Given the description of an element on the screen output the (x, y) to click on. 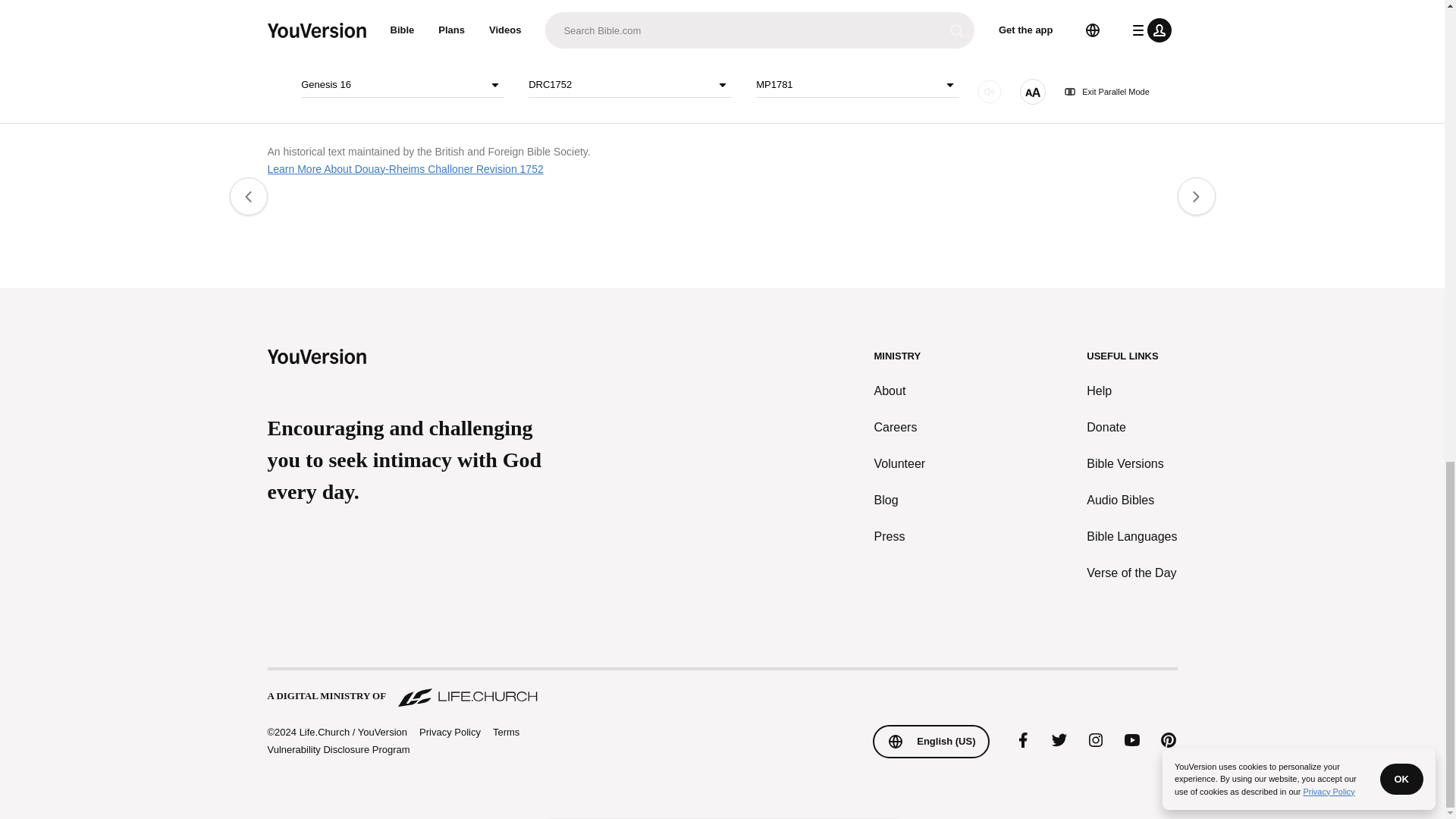
Sign up or sign in (774, 2)
Vulnerability Disclosure Program (337, 749)
Bible Languages (1131, 536)
Volunteer (900, 464)
About (900, 391)
A DIGITAL MINISTRY OF (721, 688)
Press (900, 536)
Verse of the Day (1131, 573)
Learn More About Douay-Rheims Challoner Revision 1752 (404, 168)
Bible Versions (1131, 464)
Terms (506, 731)
Donate (1131, 427)
Careers (900, 427)
Help (1131, 391)
Privacy Policy (449, 732)
